Given the description of an element on the screen output the (x, y) to click on. 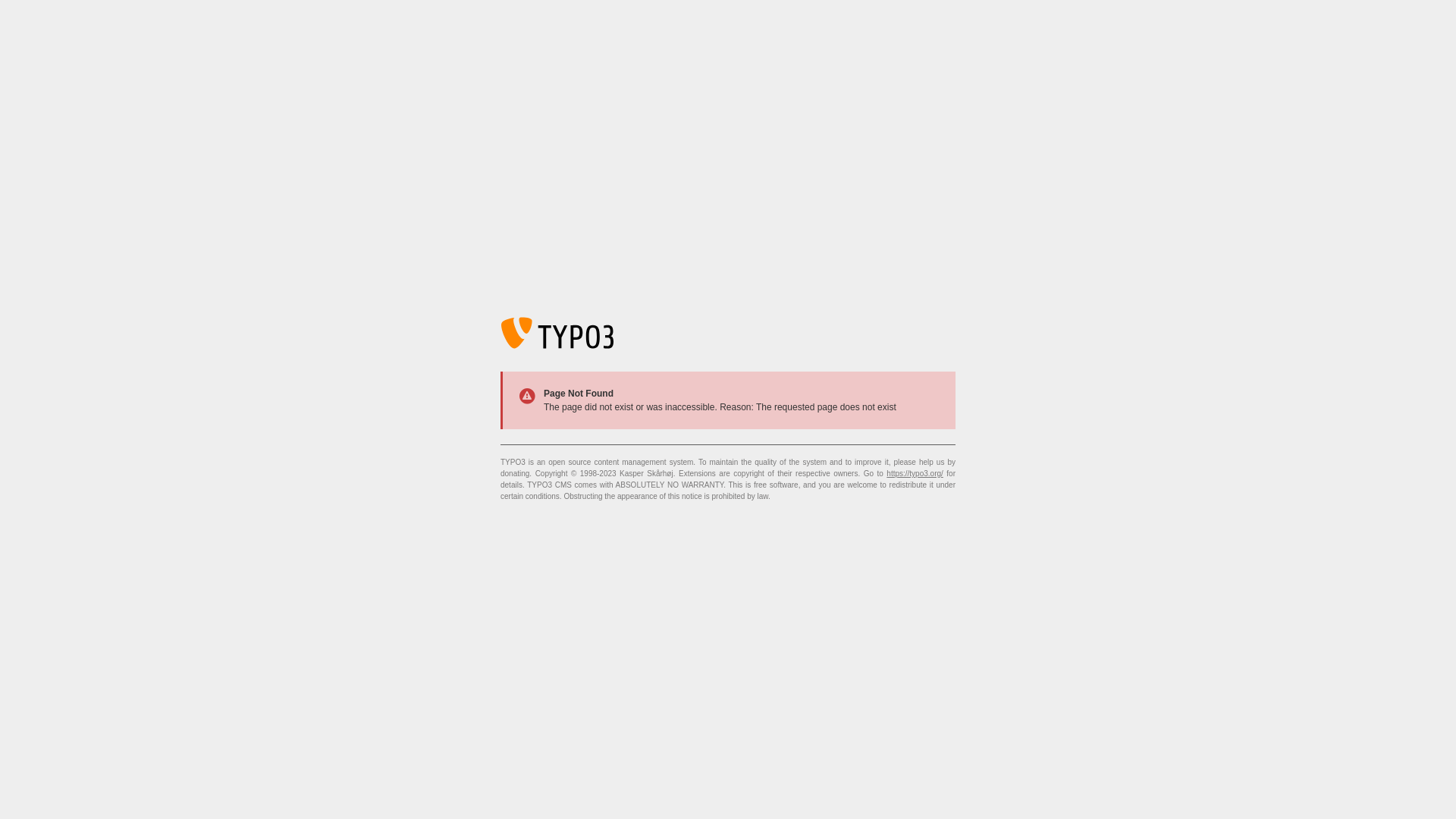
https://typo3.org/ Element type: text (914, 473)
